Given the description of an element on the screen output the (x, y) to click on. 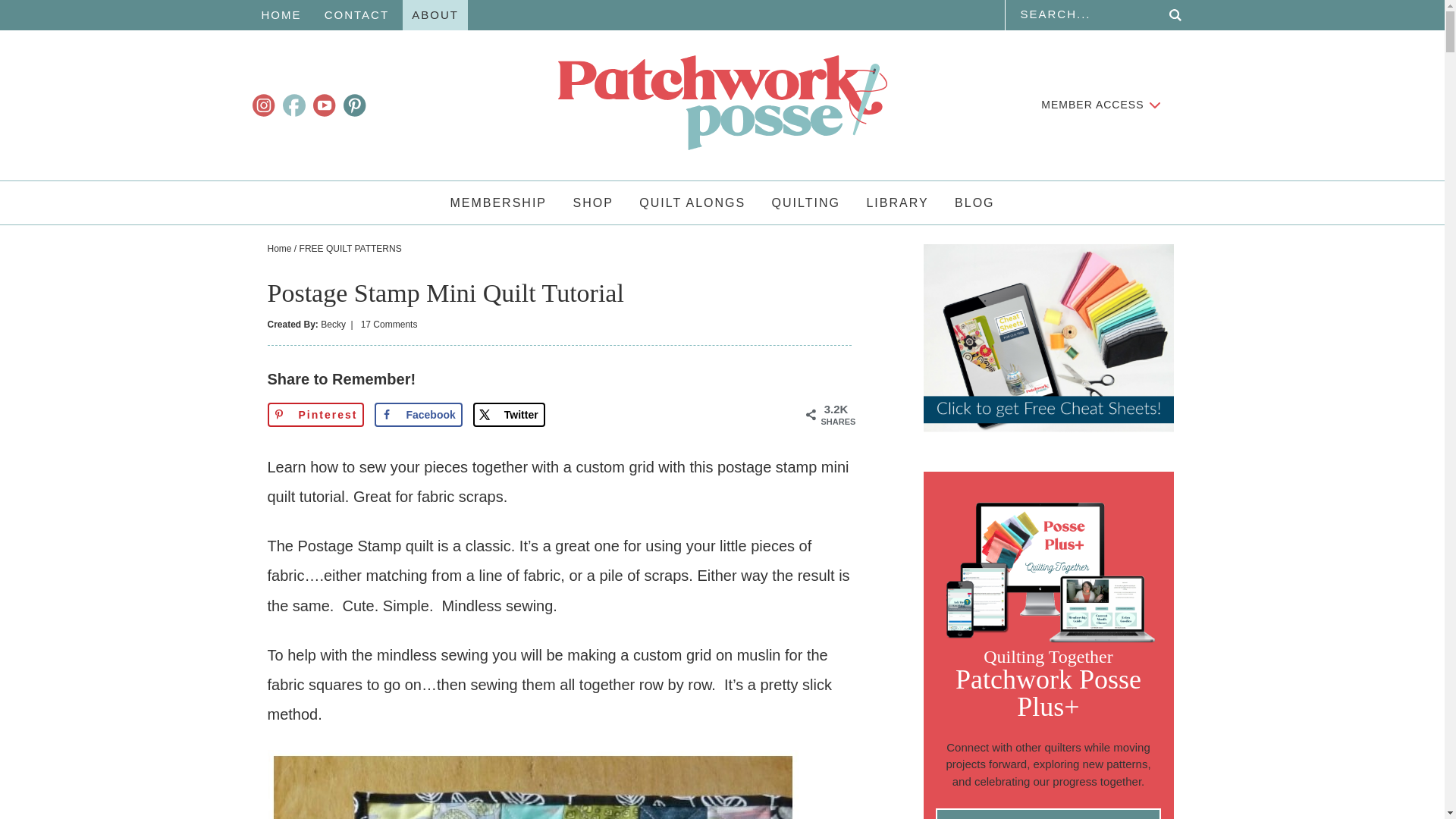
PATCHWORK POSSE (721, 102)
Save to Pinterest (315, 414)
HOME (280, 15)
Share on Facebook (417, 414)
CONTACT (356, 15)
postage stamp mini quilt tutorial great for scraps (531, 784)
ABOUT (435, 15)
Share on X (508, 414)
